Given the description of an element on the screen output the (x, y) to click on. 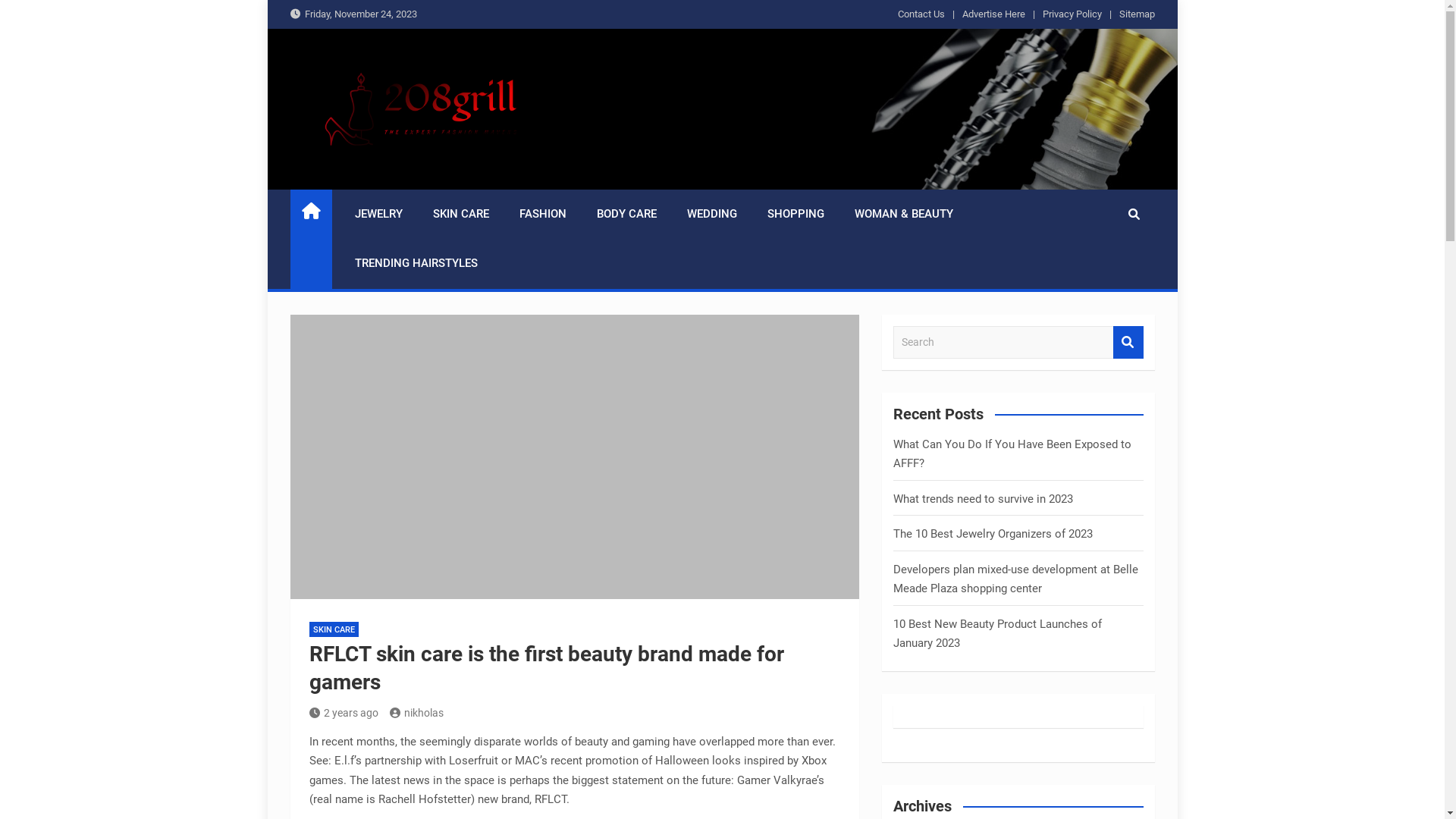
What Can You Do If You Have Been Exposed to AFFF? Element type: text (1012, 453)
Skip to content Element type: text (266, 0)
WOMAN & BEAUTY Element type: text (902, 214)
Sitemap Element type: text (1136, 14)
The 10 Best Jewelry Organizers of 2023 Element type: text (992, 533)
Privacy Policy Element type: text (1071, 14)
SHOPPING Element type: text (795, 214)
208grill Element type: text (342, 178)
nikholas Element type: text (416, 712)
BODY CARE Element type: text (625, 214)
FASHION Element type: text (541, 214)
What trends need to survive in 2023 Element type: text (983, 498)
SKIN CARE Element type: text (460, 214)
2 years ago Element type: text (343, 712)
Search Element type: text (1128, 342)
WEDDING Element type: text (711, 214)
Contact Us Element type: text (920, 14)
10 Best New Beauty Product Launches of January 2023 Element type: text (997, 633)
JEWELRY Element type: text (378, 214)
TRENDING HAIRSTYLES Element type: text (415, 263)
SKIN CARE Element type: text (333, 629)
Advertise Here Element type: text (992, 14)
